Given the description of an element on the screen output the (x, y) to click on. 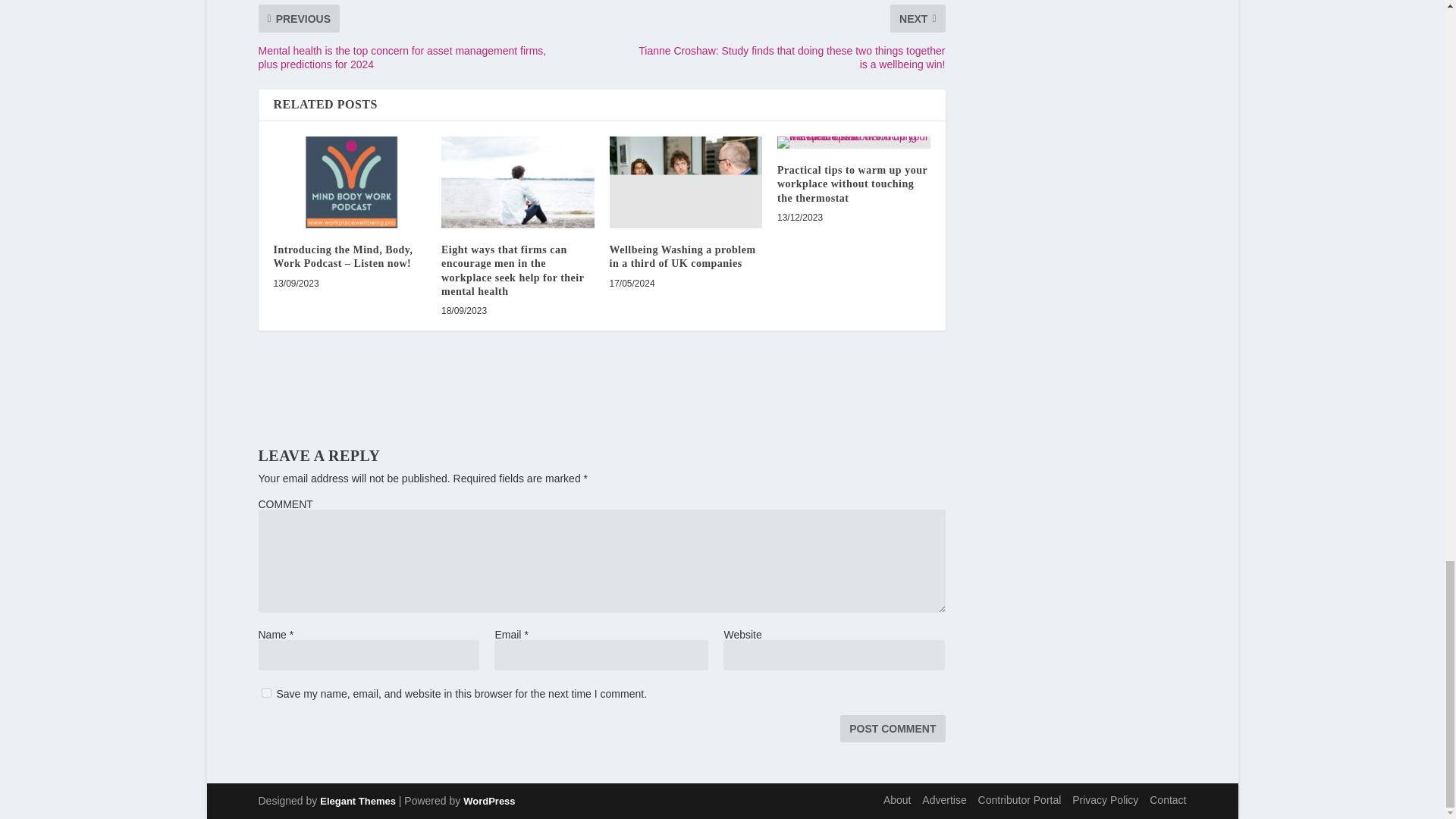
yes (265, 692)
Post Comment (892, 728)
